Given the description of an element on the screen output the (x, y) to click on. 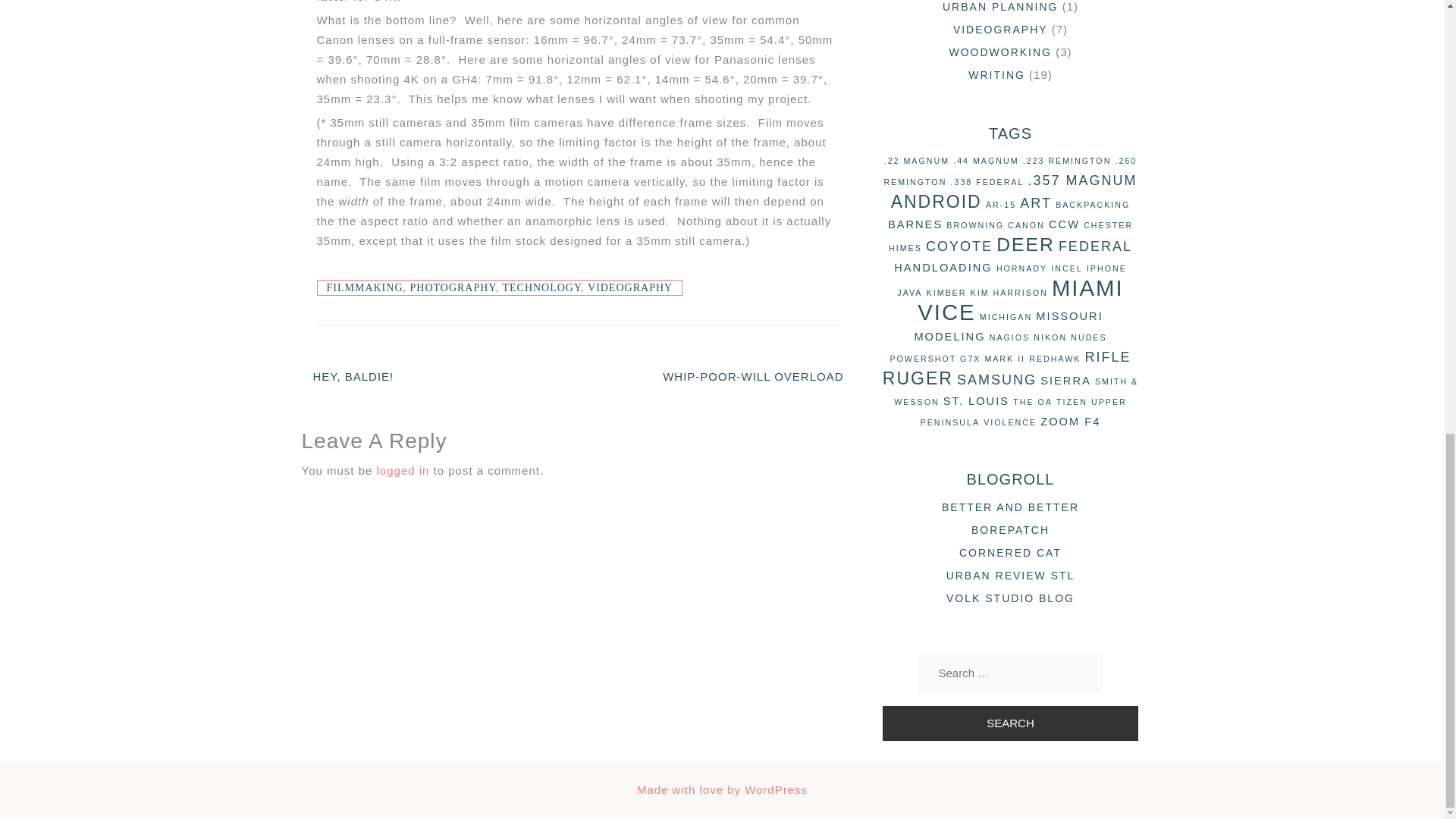
WHIP-POOR-WILL OVERLOAD (752, 375)
logged in (403, 470)
VIDEOGRAPHY (630, 287)
Photos, Guns, Girls (1010, 598)
TECHNOLOGY (541, 287)
PHOTOGRAPHY (452, 287)
Perspective from a LEO in Texas (1010, 507)
St. Louis Metro Architecture, Community, and Development (1010, 575)
HEY, BALDIE! (353, 375)
Internet Security and Firearms (1010, 530)
Search (1009, 723)
FILMMAKING (364, 287)
Search (1009, 723)
